Given the description of an element on the screen output the (x, y) to click on. 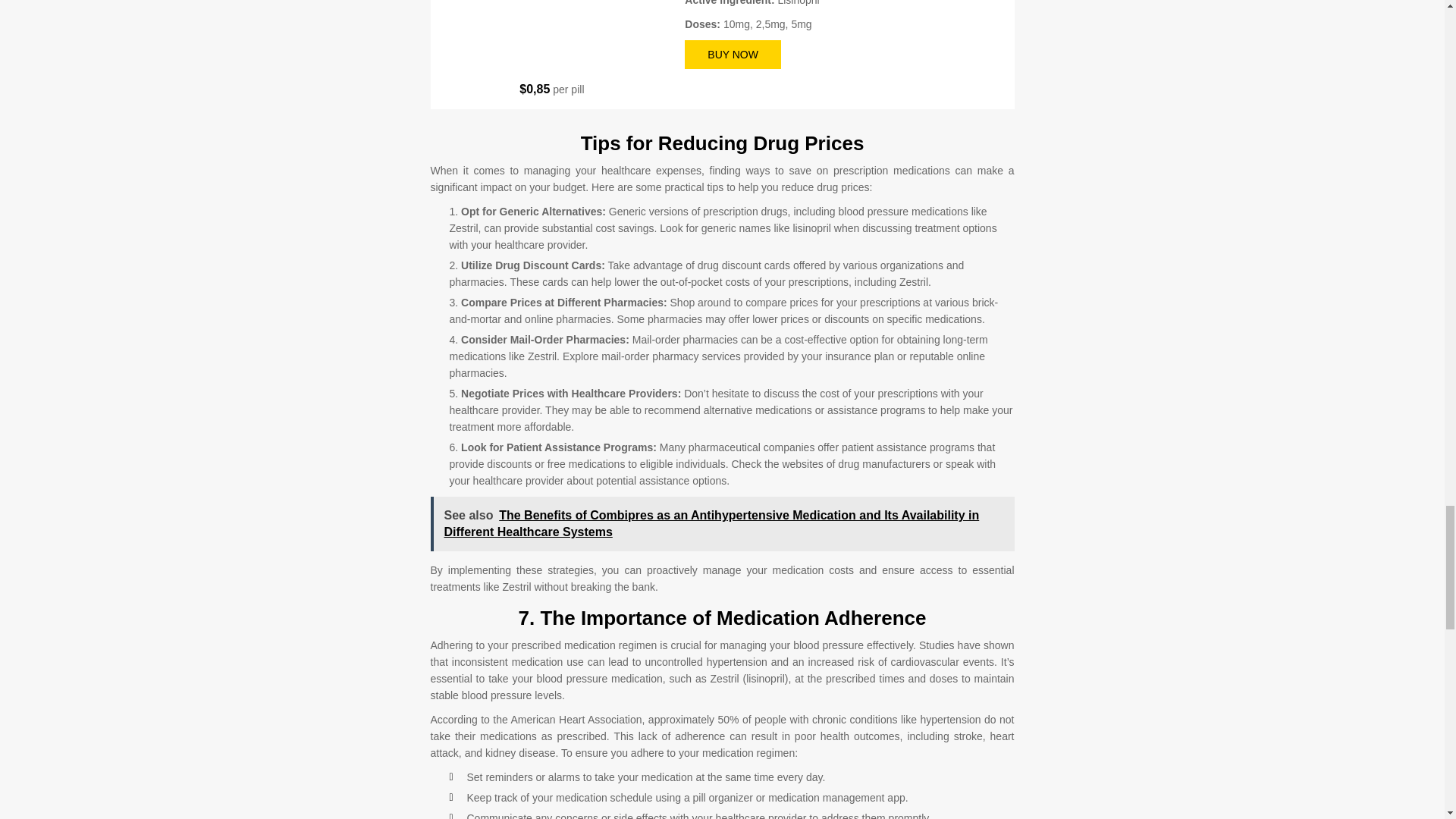
BUY NOW (732, 54)
Buy Now (732, 54)
